Given the description of an element on the screen output the (x, y) to click on. 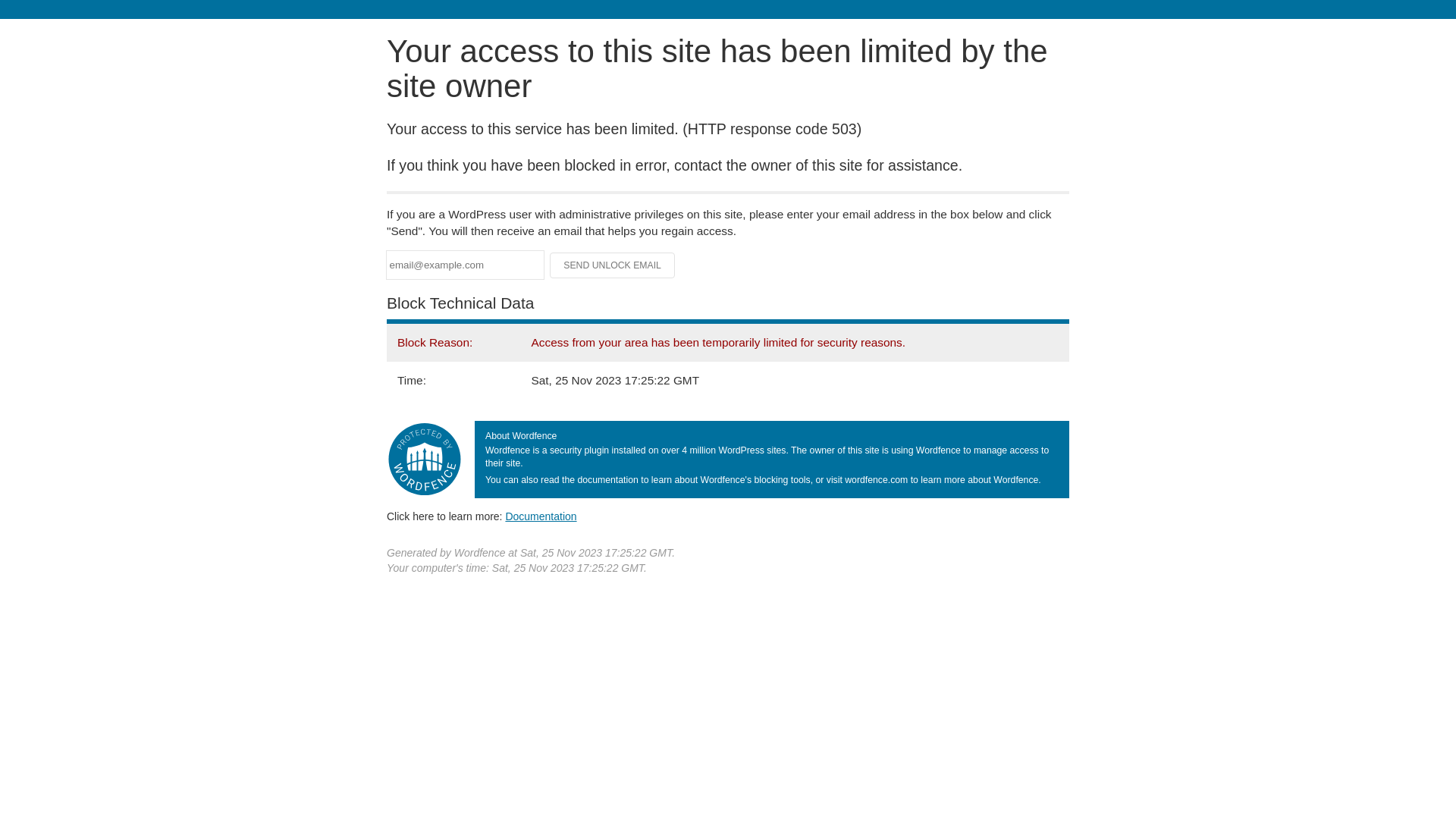
Documentation Element type: text (540, 516)
Send Unlock Email Element type: text (612, 265)
